Given the description of an element on the screen output the (x, y) to click on. 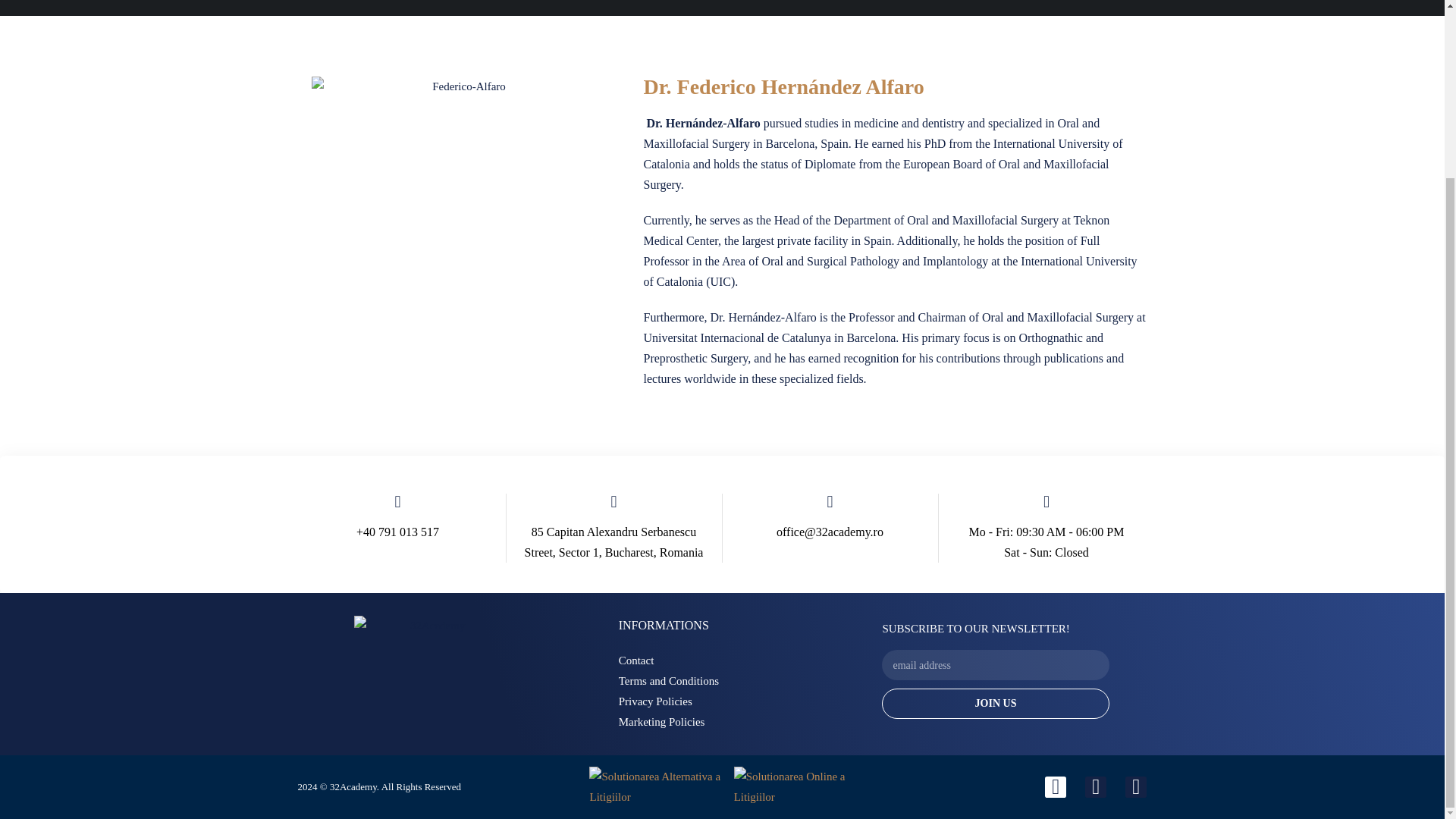
Contact (705, 660)
Federico-Alfaro (462, 235)
JOIN US (995, 703)
Terms and Conditions (705, 680)
Privacy Policies (705, 701)
Marketing Policies (705, 721)
